Given the description of an element on the screen output the (x, y) to click on. 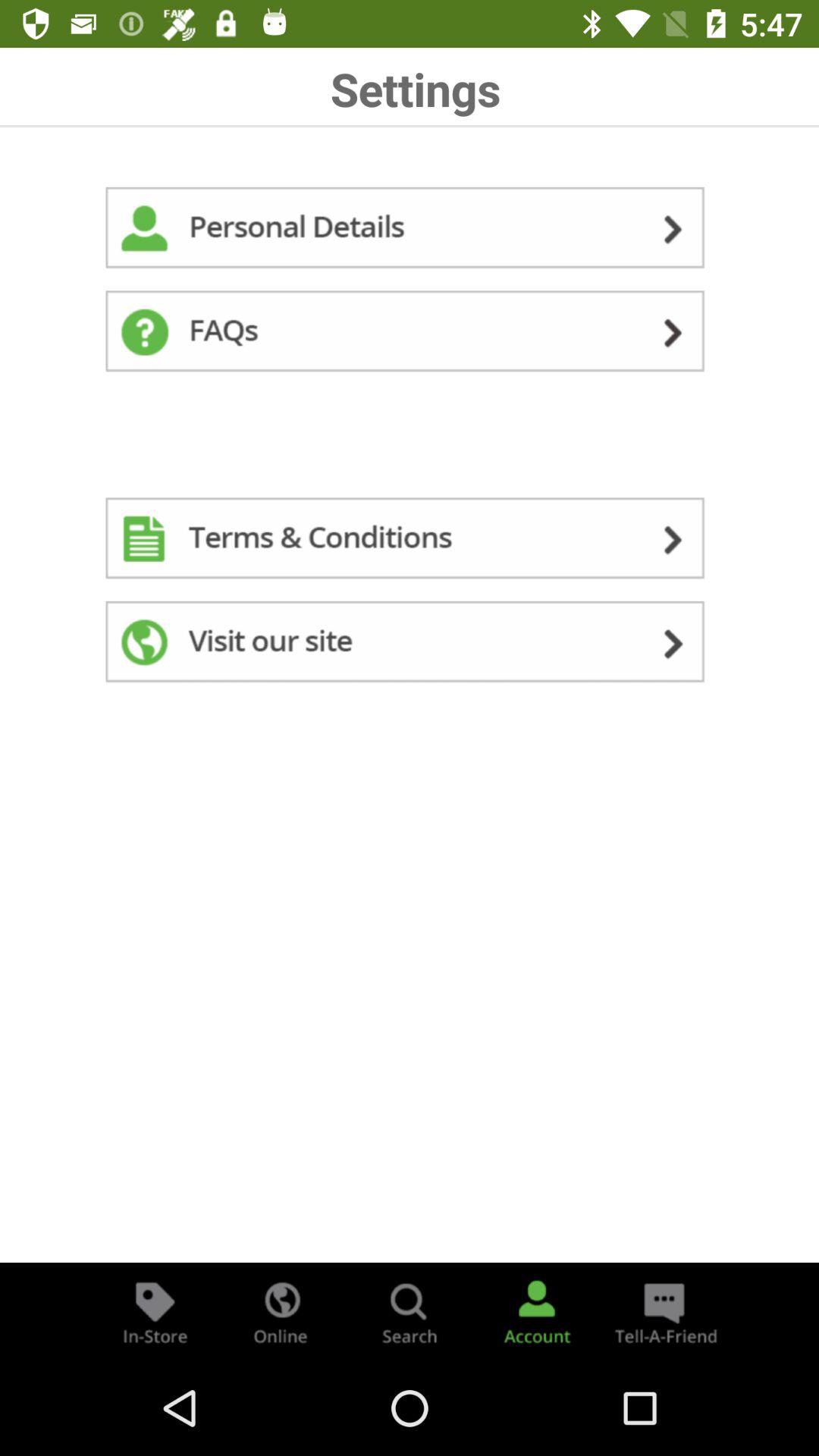
edit account (409, 230)
